Given the description of an element on the screen output the (x, y) to click on. 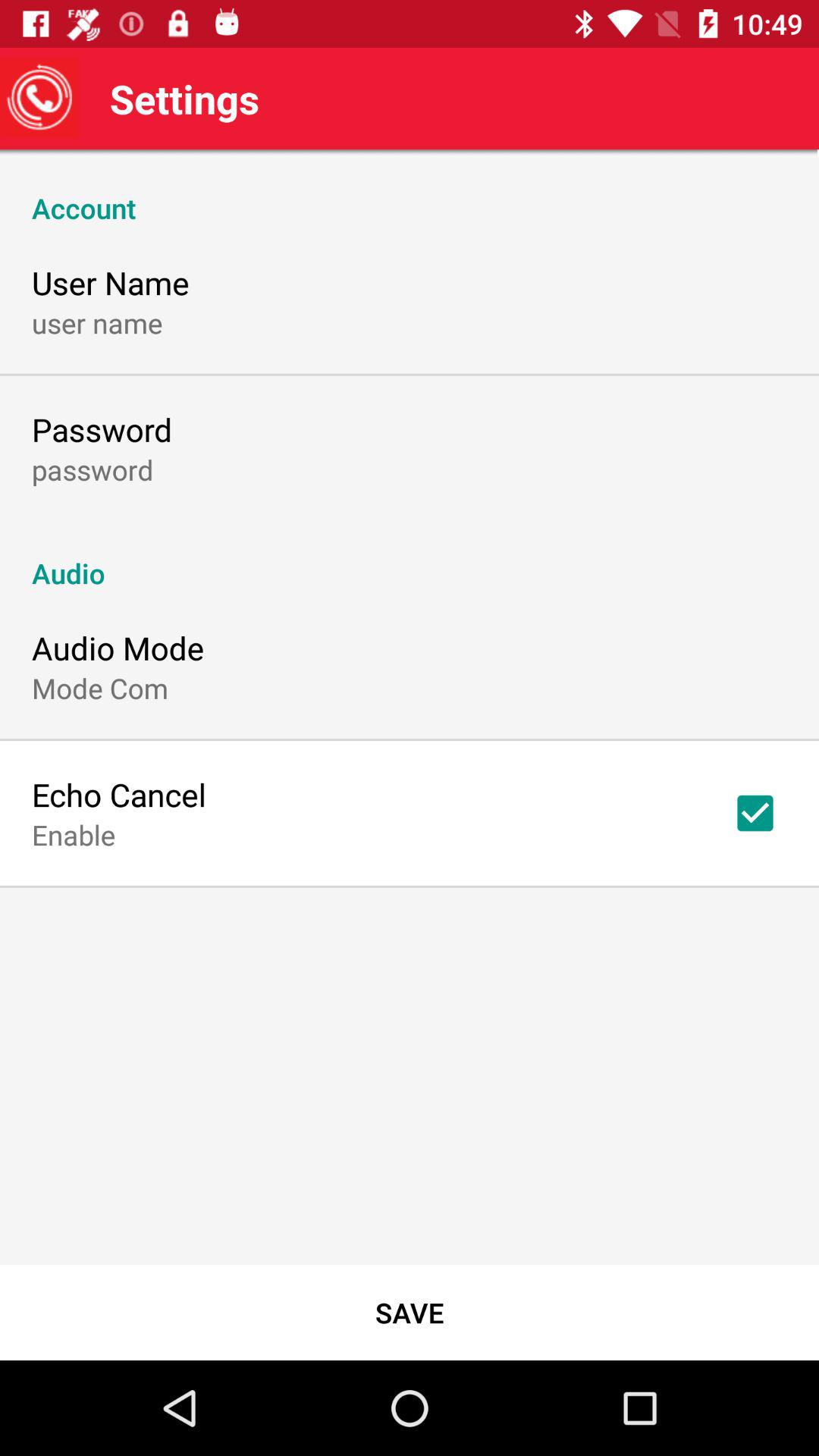
scroll to account app (409, 191)
